Given the description of an element on the screen output the (x, y) to click on. 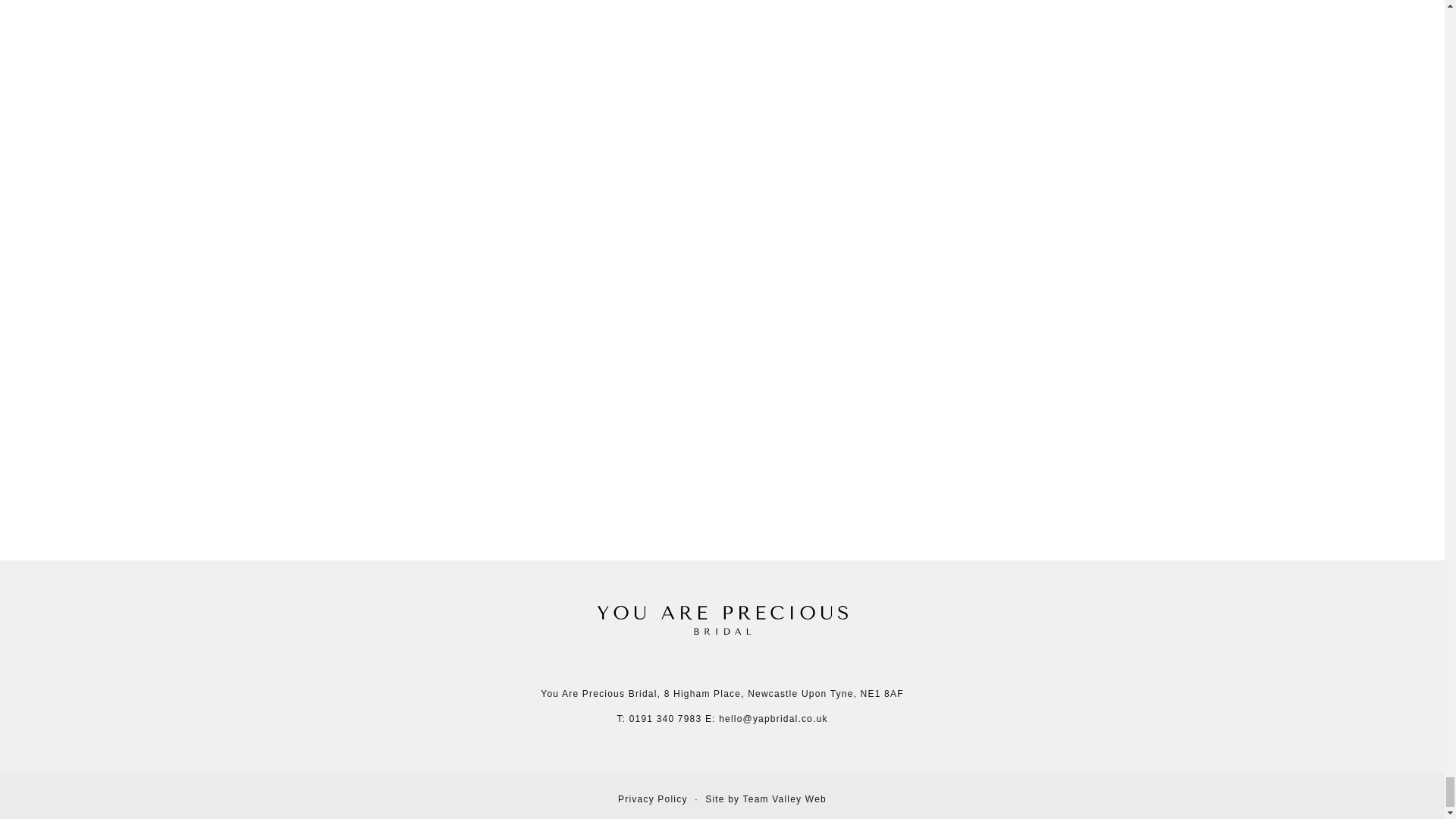
Instagram (722, 665)
Instagram (722, 663)
Privacy Policy (652, 798)
Facebook (698, 665)
Pinterest (746, 663)
Site by Team Valley Web (765, 798)
Pinterest (746, 665)
0191 340 7983 (664, 718)
Facebook (698, 663)
